Given the description of an element on the screen output the (x, y) to click on. 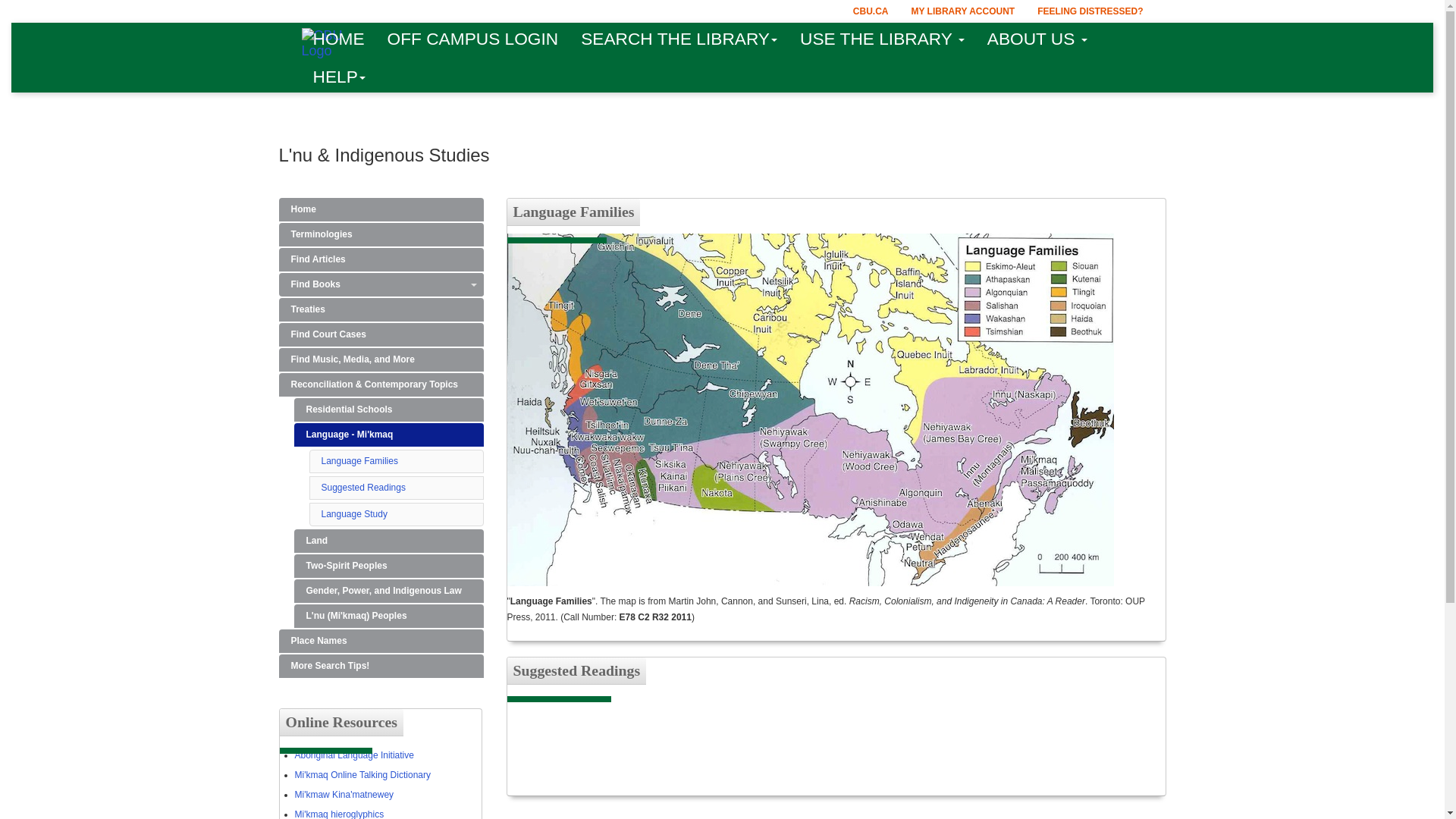
ABOUT US (1037, 38)
CBU.CA (870, 11)
SEARCH THE LIBRARY (679, 38)
HELP (339, 76)
FEELING DISTRESSED? (1090, 11)
HOME (338, 38)
USE THE LIBRARY (882, 38)
MY LIBRARY ACCOUNT (962, 11)
OFF CAMPUS LOGIN (472, 38)
